Given the description of an element on the screen output the (x, y) to click on. 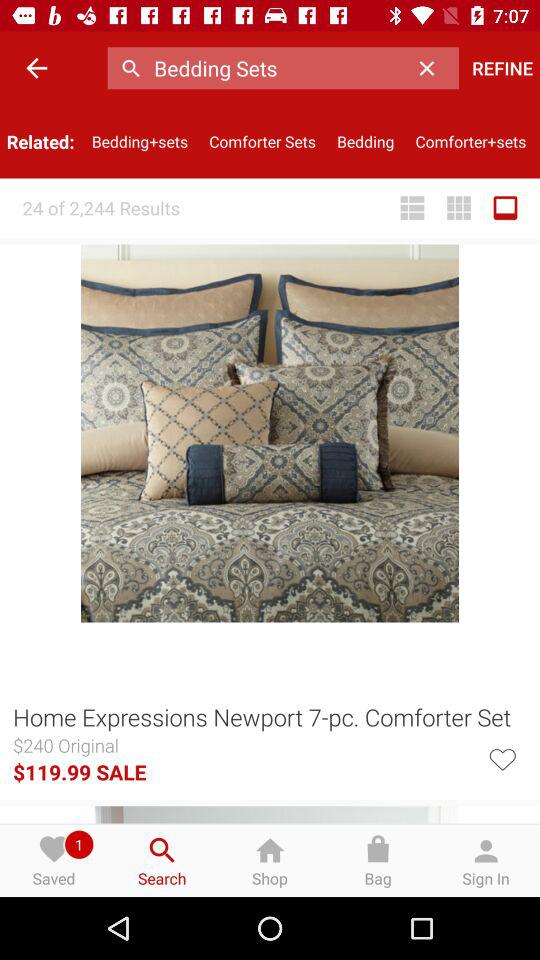
jump to refine icon (502, 68)
